Given the description of an element on the screen output the (x, y) to click on. 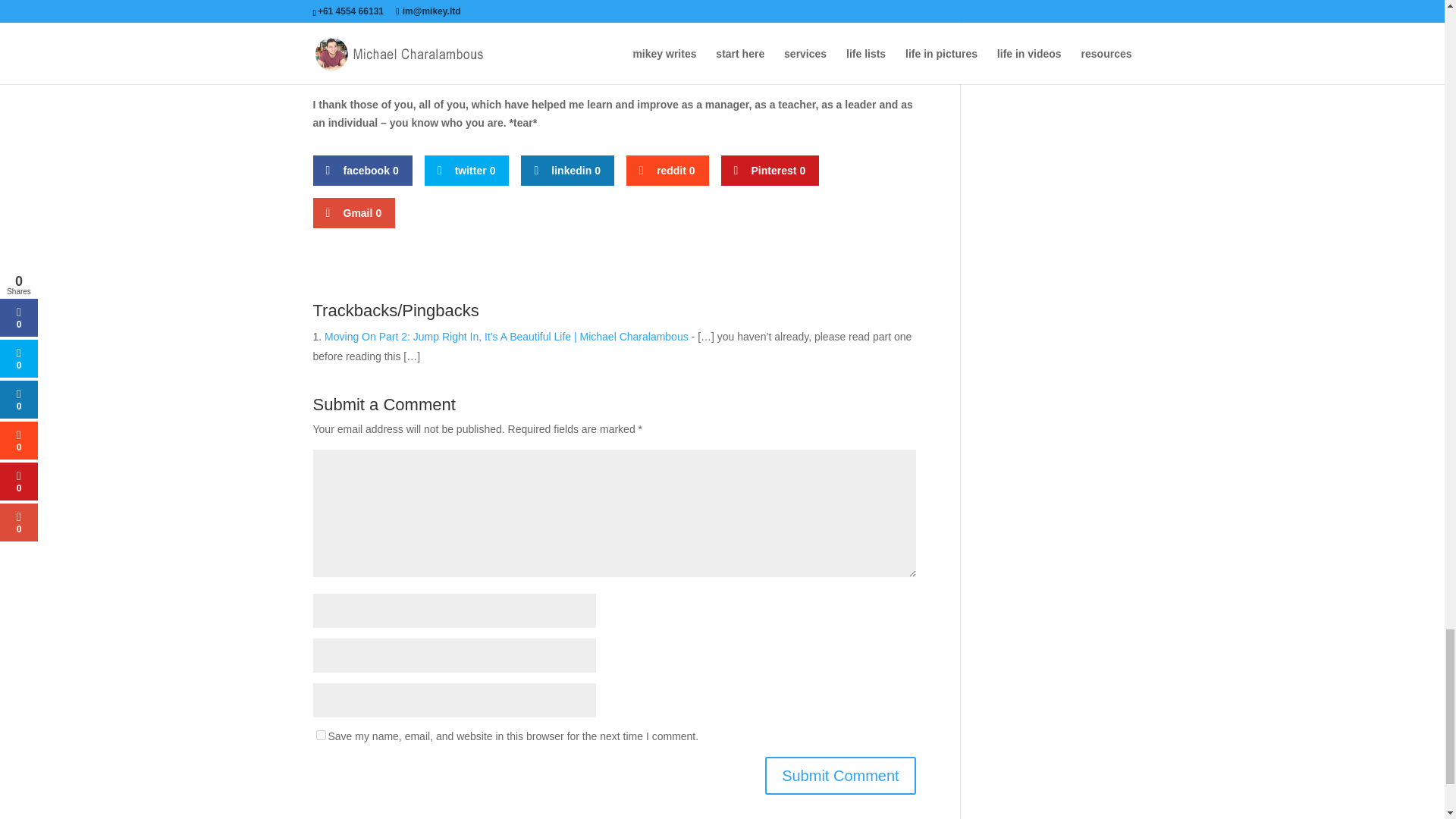
reddit0 (667, 170)
Submit Comment (840, 775)
Submit Comment (840, 775)
Pinterest0 (769, 170)
linkedin0 (567, 170)
Gmail0 (353, 213)
twitter0 (467, 170)
facebook0 (362, 170)
yes (319, 735)
